Given the description of an element on the screen output the (x, y) to click on. 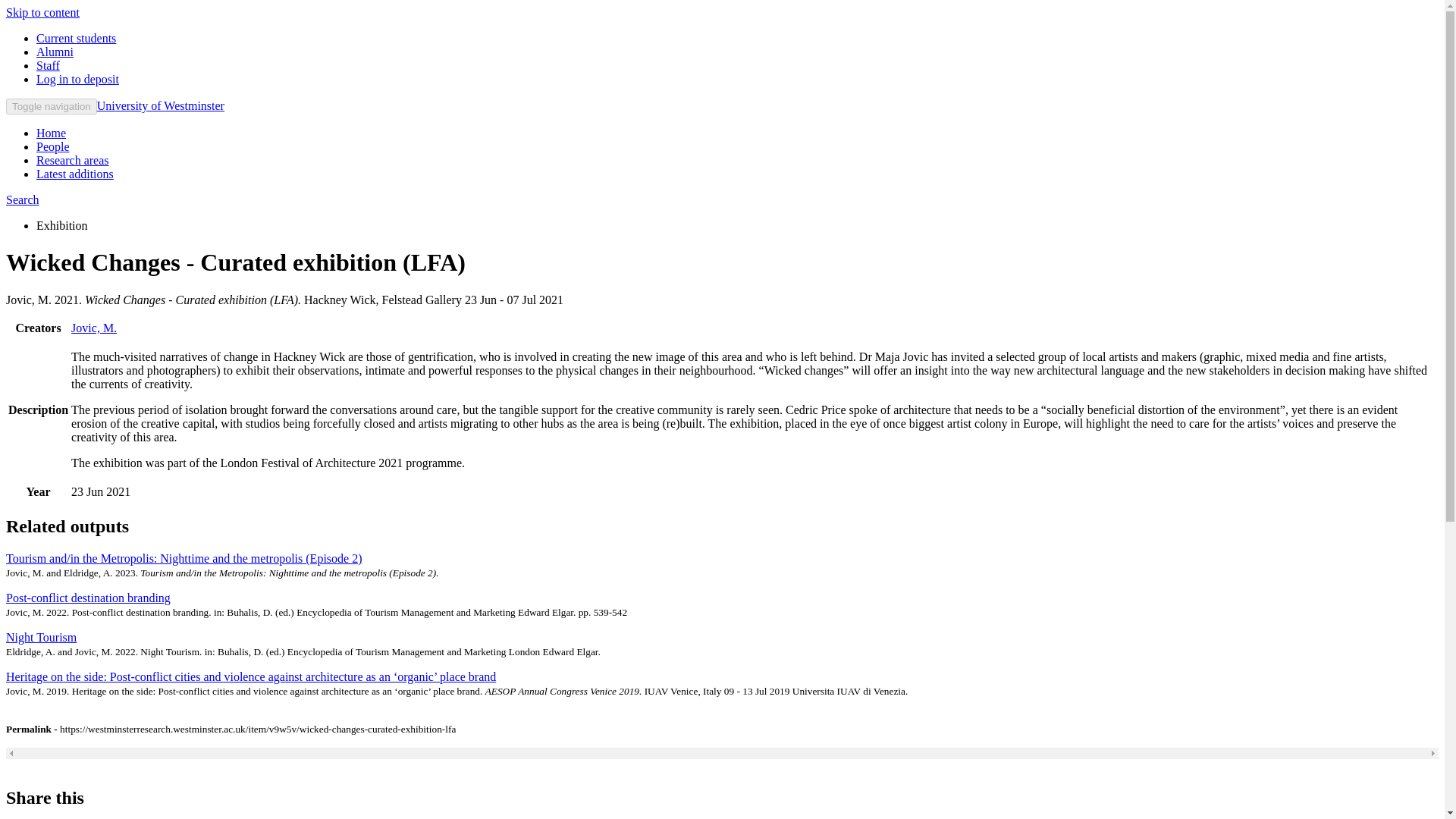
Staff (47, 65)
Search (22, 199)
University of Westminster (160, 105)
Current students (76, 38)
Post-conflict destination branding (87, 597)
Jovic, M. (93, 327)
Toggle navigation (51, 106)
Home (50, 132)
Skip to content (42, 11)
Latest additions (74, 173)
Log in to deposit (77, 78)
Alumni (55, 51)
Night Tourism (41, 636)
Research areas (72, 160)
People (52, 146)
